Given the description of an element on the screen output the (x, y) to click on. 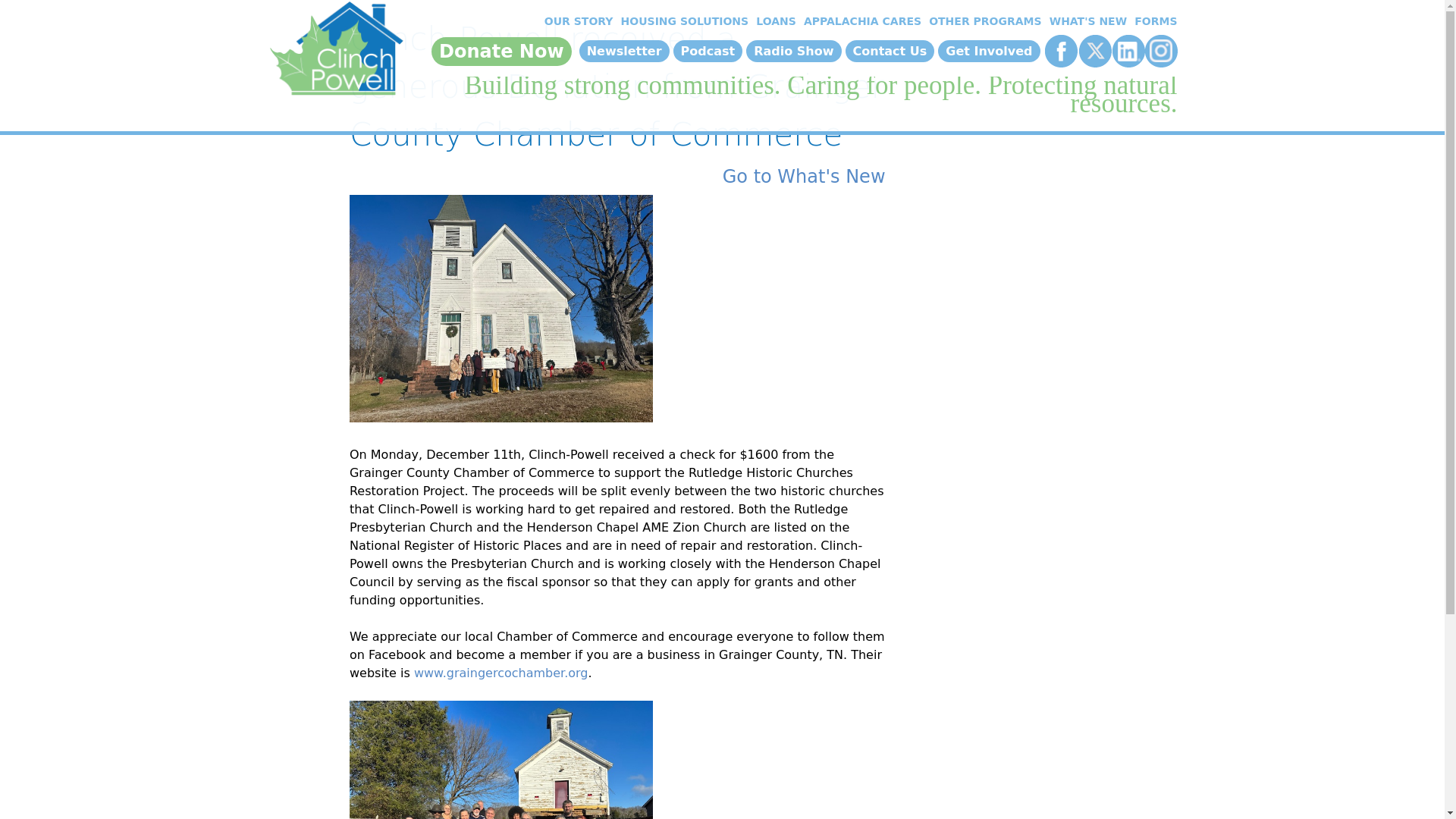
Get Involved (988, 51)
Donate Now (501, 51)
OTHER PROGRAMS (982, 21)
Go to What's New (803, 176)
Podcast (707, 51)
LOANS (774, 21)
www.graingercochamber.org (500, 672)
Radio Show (793, 51)
Newsletter (624, 51)
Home (334, 52)
